Given the description of an element on the screen output the (x, y) to click on. 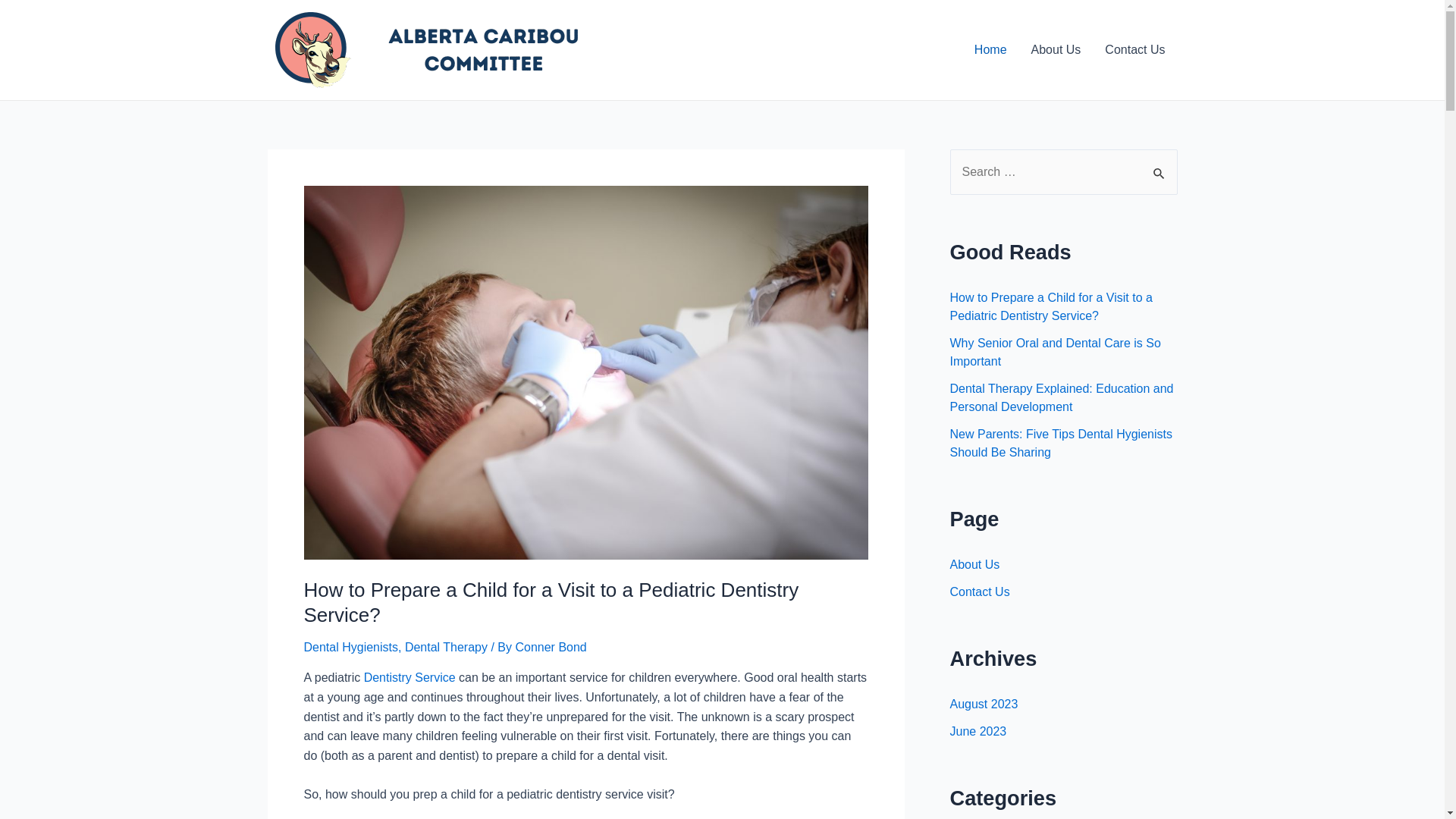
Dental Hygienists Element type: text (350, 646)
Why Senior Oral and Dental Care is So Important Element type: text (1054, 351)
Conner Bond Element type: text (550, 646)
About Us Element type: text (974, 564)
Contact Us Element type: text (1134, 49)
Dental Therapy Explained: Education and Personal Development Element type: text (1061, 397)
About Us Element type: text (1056, 49)
June 2023 Element type: text (977, 730)
Search Element type: text (1160, 165)
New Parents: Five Tips Dental Hygienists Should Be Sharing Element type: text (1060, 442)
Contact Us Element type: text (979, 591)
August 2023 Element type: text (983, 703)
Dental Therapy Element type: text (445, 646)
Home Element type: text (990, 49)
Dentistry Service Element type: text (409, 677)
